Given the description of an element on the screen output the (x, y) to click on. 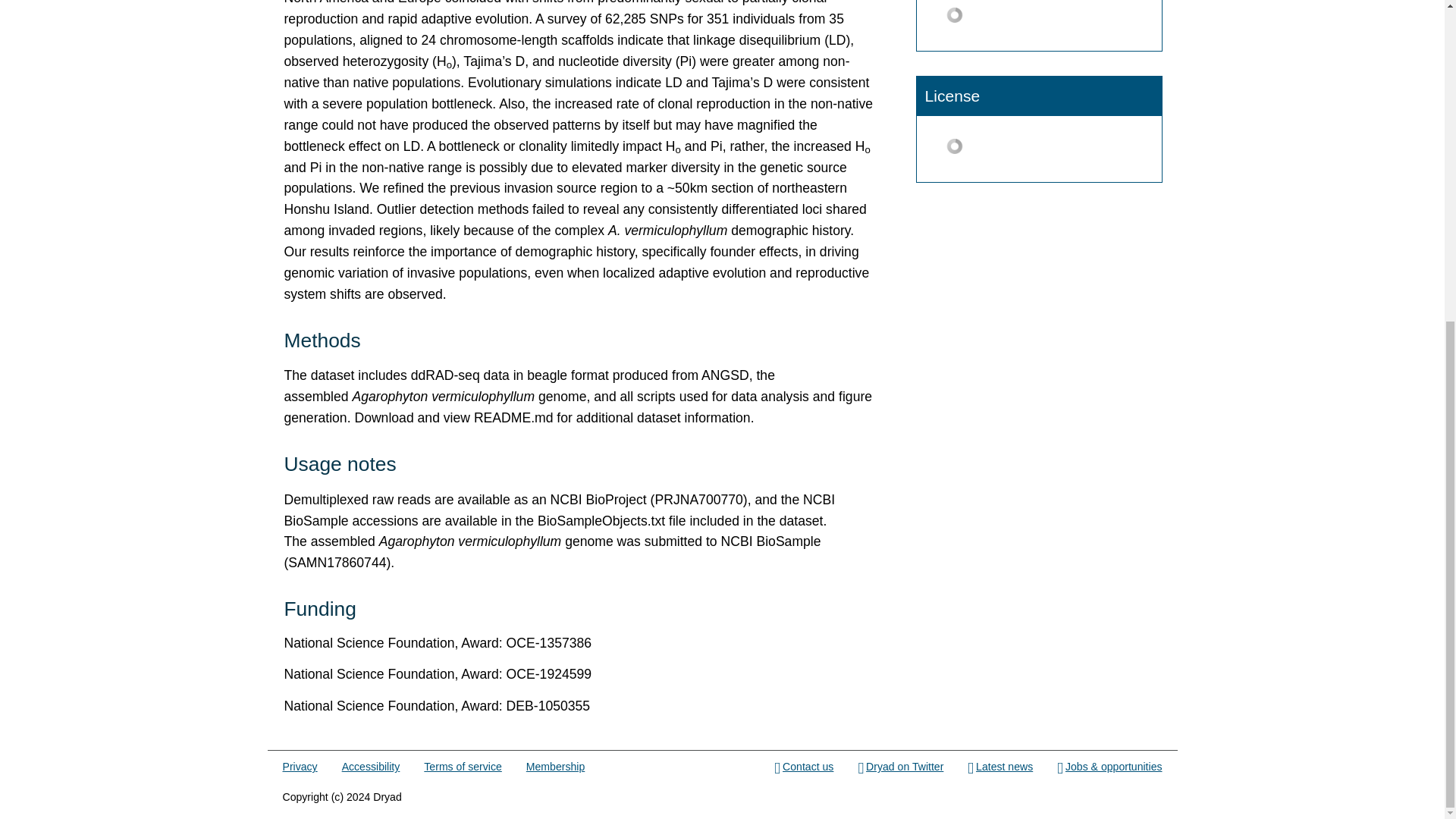
Privacy (299, 767)
